Given the description of an element on the screen output the (x, y) to click on. 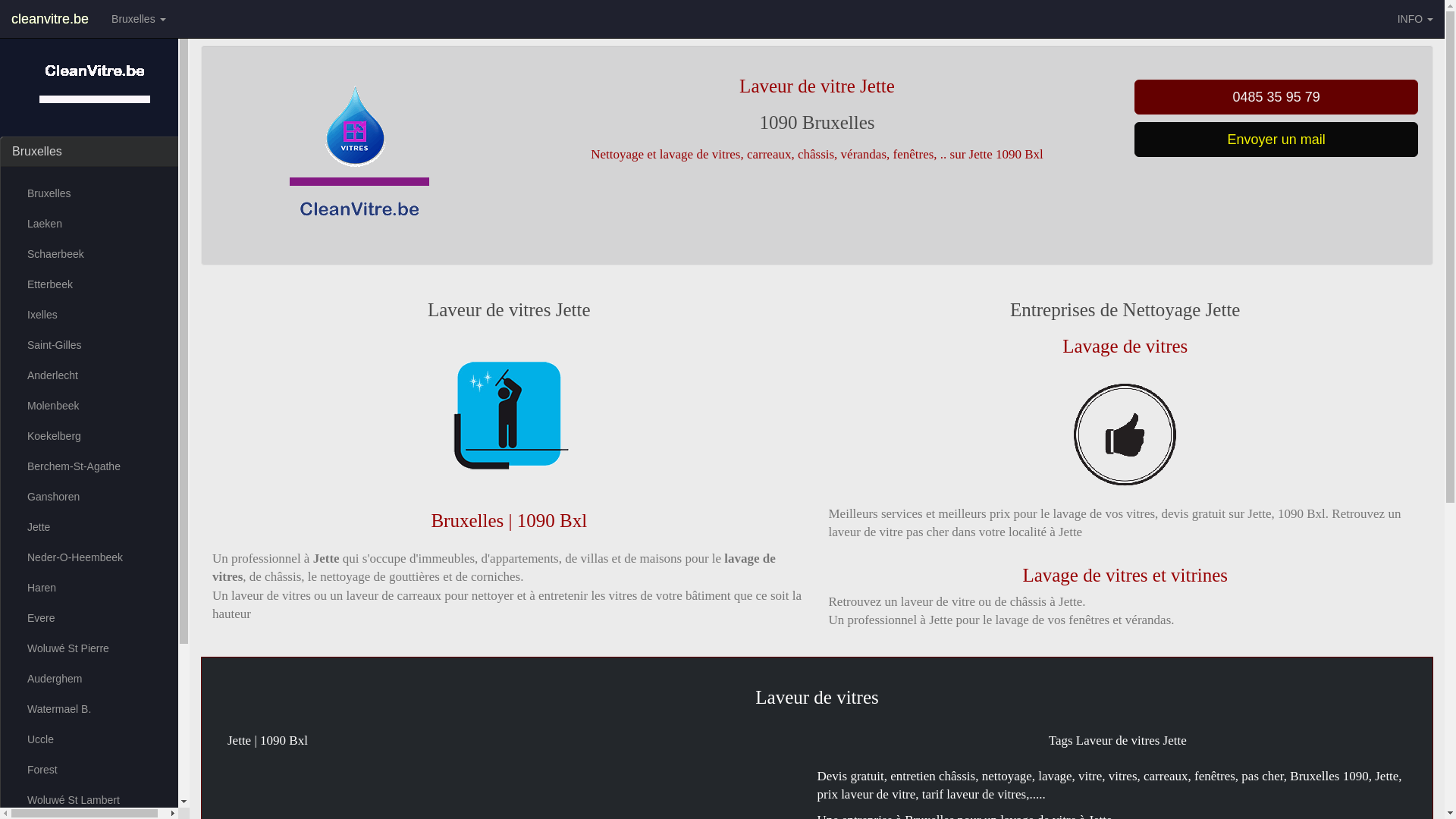
Bruxelles Element type: text (37, 150)
Molenbeek Element type: text (94, 405)
Laveur de vitre Jette Element type: hover (1125, 434)
Bruxelles Element type: text (94, 193)
Ganshoren Element type: text (94, 496)
Forest Element type: text (94, 769)
Schaerbeek Element type: text (94, 253)
Saint-Gilles Element type: text (94, 344)
Evere Element type: text (94, 617)
Auderghem Element type: text (94, 678)
Anderlecht Element type: text (94, 375)
Laveur de vitre Jette Element type: hover (357, 155)
Ixelles Element type: text (94, 314)
Envoyer un mail Element type: text (1276, 139)
Koekelberg Element type: text (94, 435)
INFO Element type: text (1415, 18)
Laveur de vitre Jette 1090 Element type: hover (508, 415)
Uccle Element type: text (94, 739)
Etterbeek Element type: text (94, 284)
Bruxelles Element type: text (138, 18)
Clean vitre Element type: hover (94, 90)
Jette Element type: text (94, 526)
Haren Element type: text (94, 587)
Laeken Element type: text (94, 223)
Neder-O-Heembeek Element type: text (94, 557)
Watermael B. Element type: text (94, 708)
0485 35 95 79 Element type: text (1276, 96)
cleanvitre.be Element type: text (50, 18)
Berchem-St-Agathe Element type: text (94, 466)
